Given the description of an element on the screen output the (x, y) to click on. 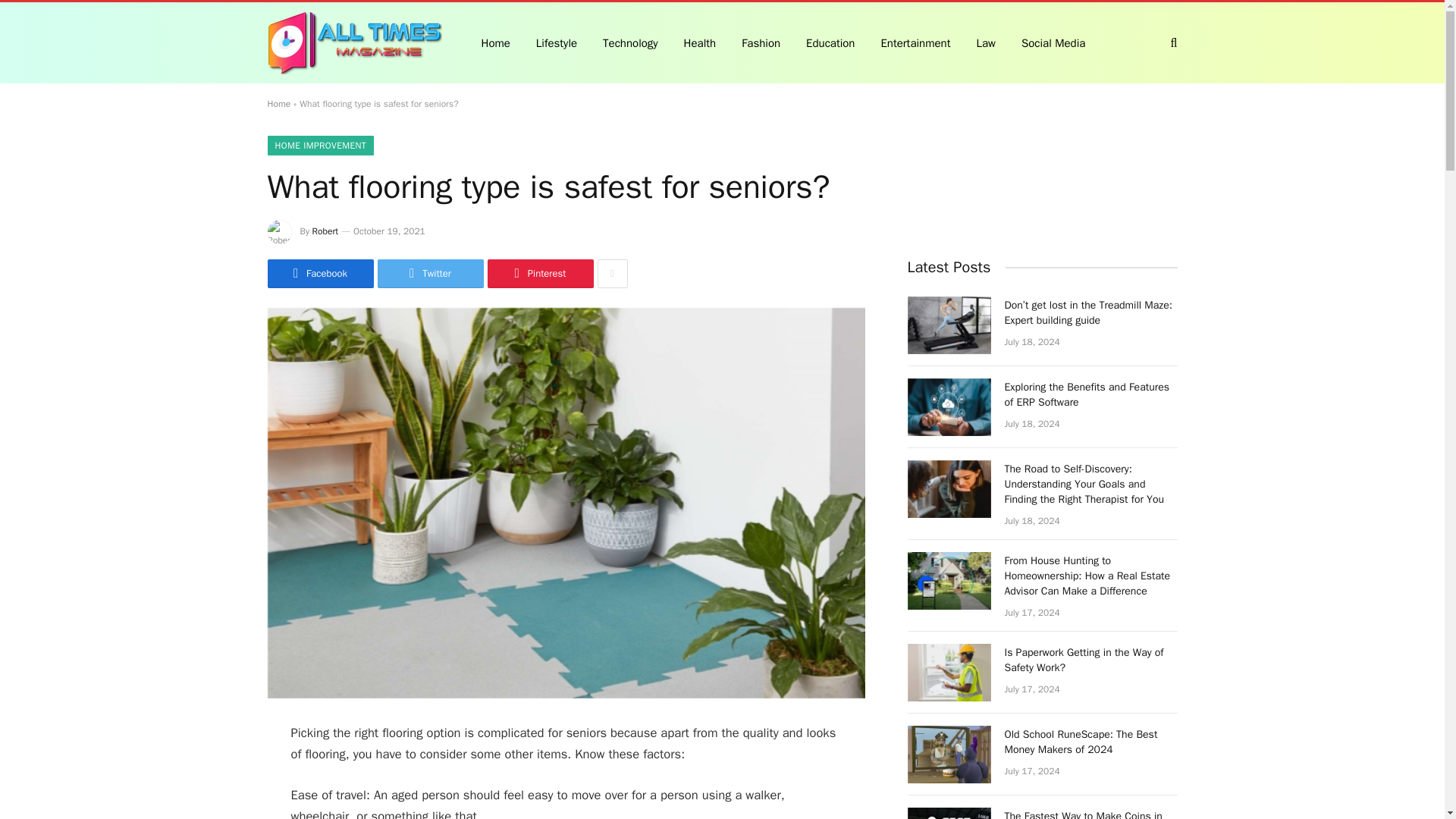
Show More Social Sharing (611, 273)
Posts by Robert (326, 231)
Technology (630, 42)
Pinterest (539, 273)
Education (830, 42)
Robert (326, 231)
Home (277, 103)
Share on Pinterest (539, 273)
Share on Facebook (319, 273)
Facebook (319, 273)
Social Media (1053, 42)
Entertainment (914, 42)
alltimesmagazine.com (353, 42)
Twitter (430, 273)
